Given the description of an element on the screen output the (x, y) to click on. 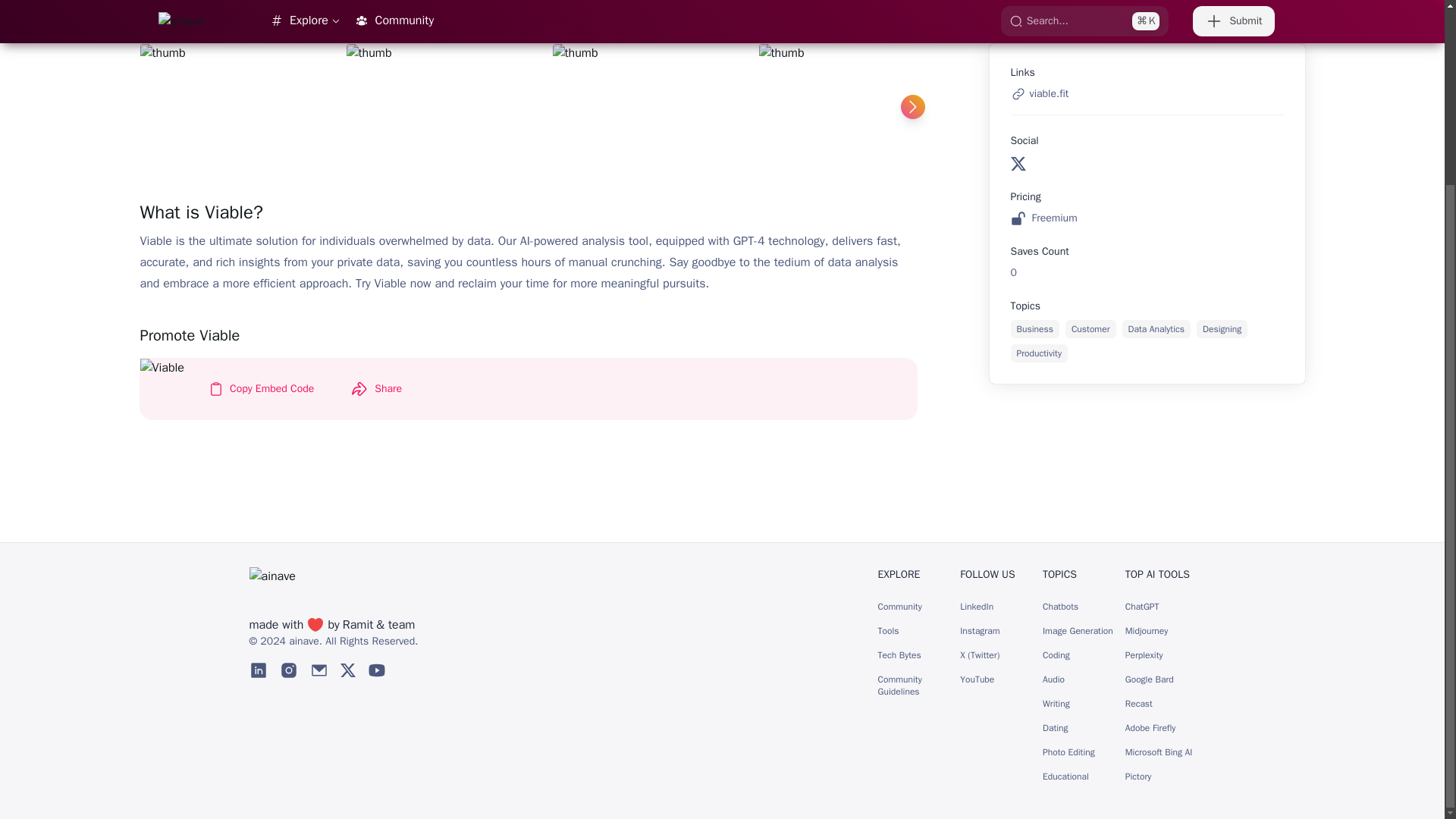
Productivity (1038, 352)
Ramit (358, 624)
Audio (1053, 679)
Coding (1056, 654)
ainave (303, 641)
Instagram (978, 630)
Customer (1090, 329)
Designing (1221, 329)
Data Analytics (1156, 329)
Share (375, 388)
